Given the description of an element on the screen output the (x, y) to click on. 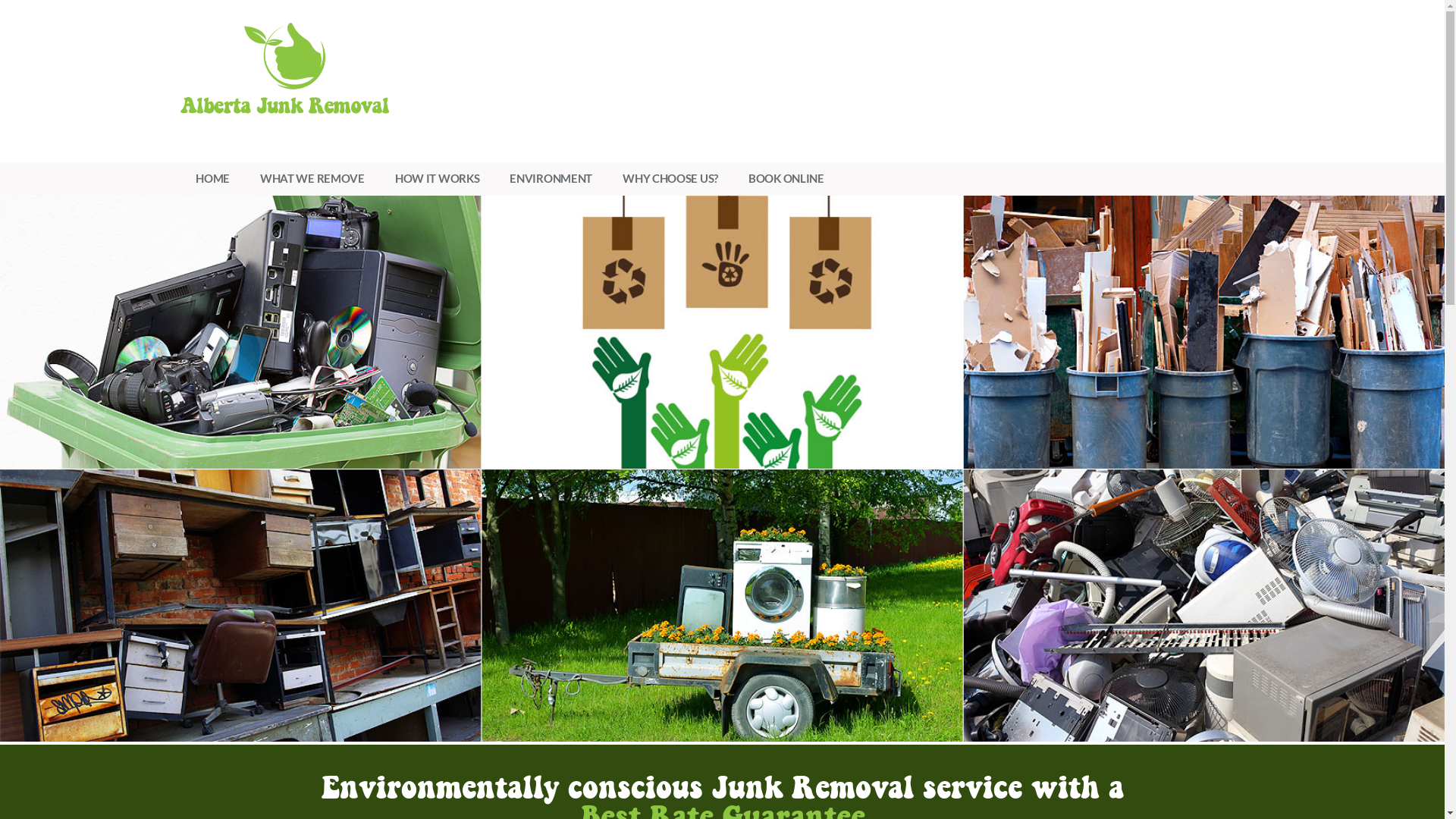
WHY CHOOSE US? Element type: text (670, 179)
HOME Element type: text (212, 179)
ENVIRONMENT Element type: text (550, 179)
HOW IT WORKS Element type: text (436, 179)
BOOK ONLINE Element type: text (786, 179)
WHAT WE REMOVE Element type: text (311, 179)
